Given the description of an element on the screen output the (x, y) to click on. 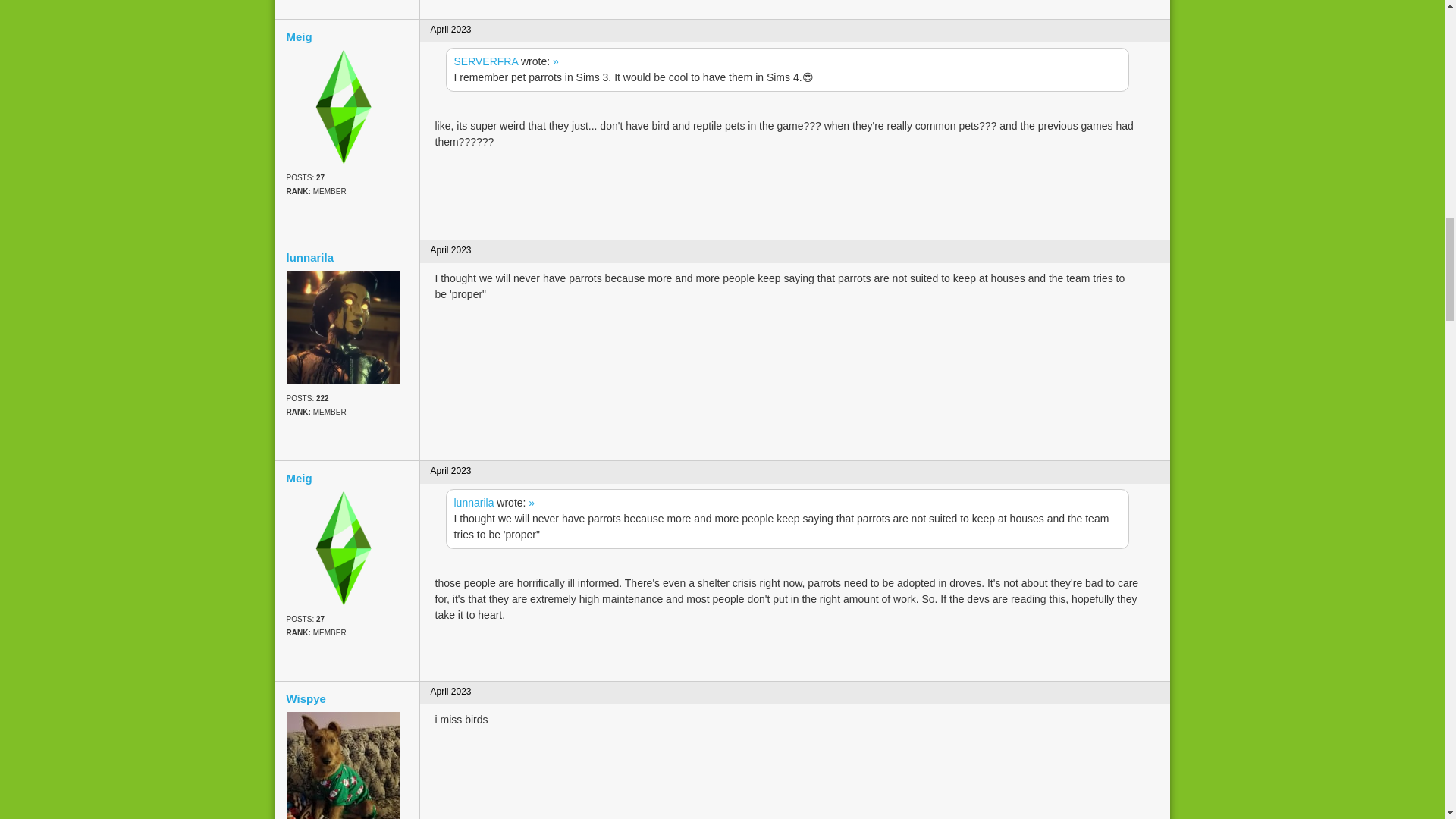
SERVERFRA (485, 61)
Meig (346, 36)
April 2023 (450, 29)
